Given the description of an element on the screen output the (x, y) to click on. 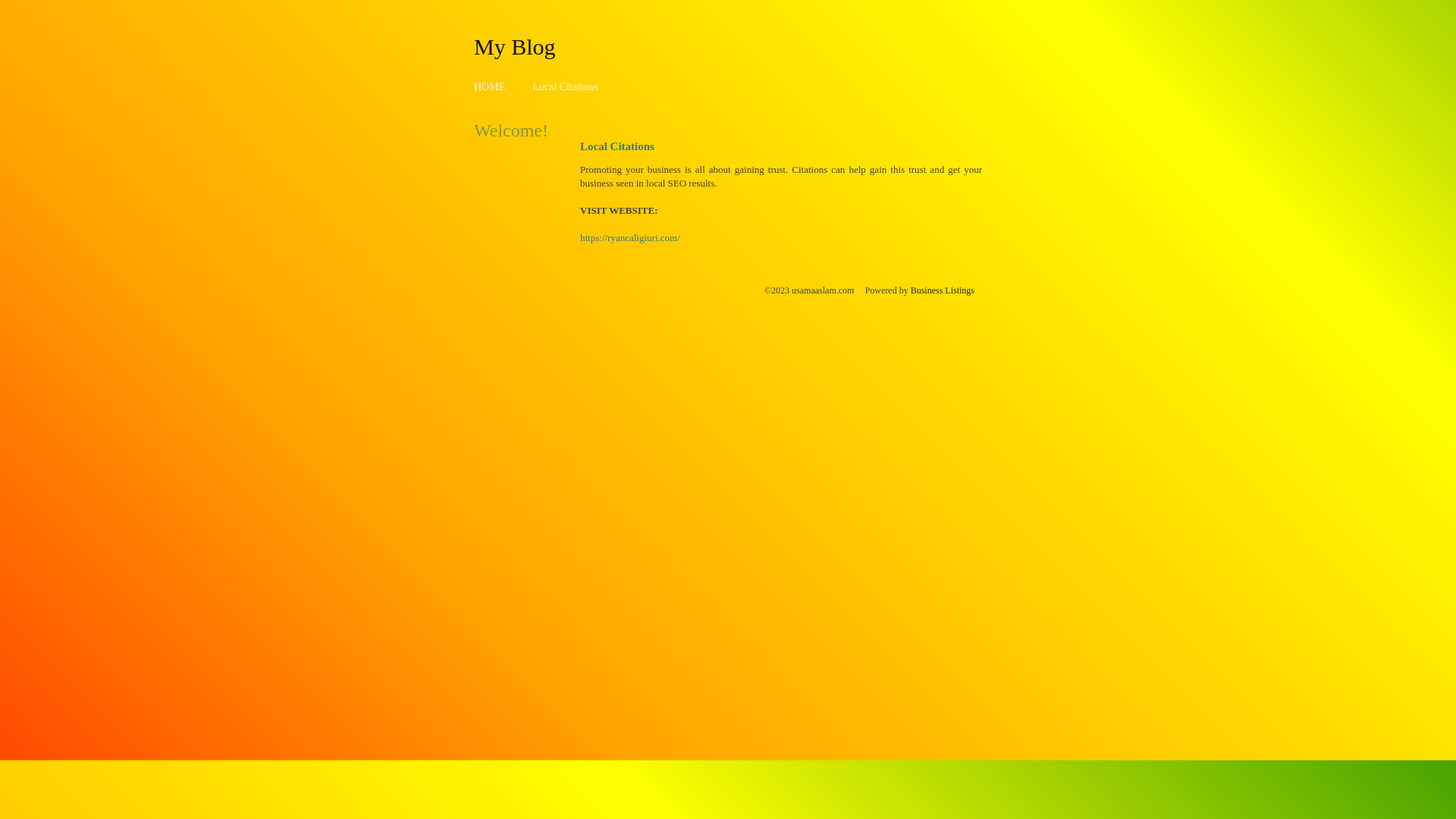
https://ryancaligiuri.com/ Element type: text (630, 237)
My Blog Element type: text (514, 46)
Local Citations Element type: text (564, 86)
HOME Element type: text (489, 86)
Business Listings Element type: text (942, 290)
